Given the description of an element on the screen output the (x, y) to click on. 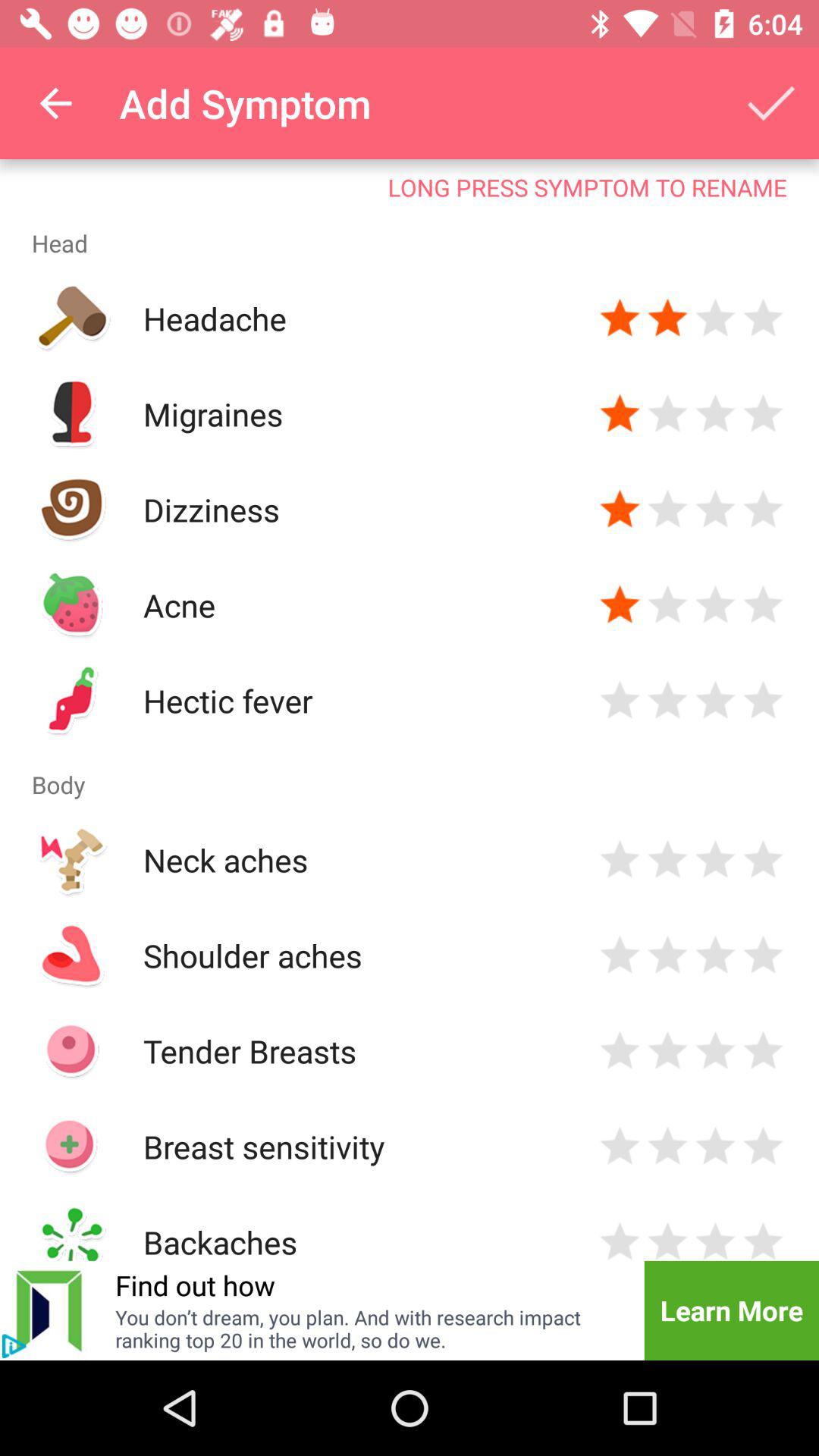
rate tender breasts 1 star (619, 1050)
